Given the description of an element on the screen output the (x, y) to click on. 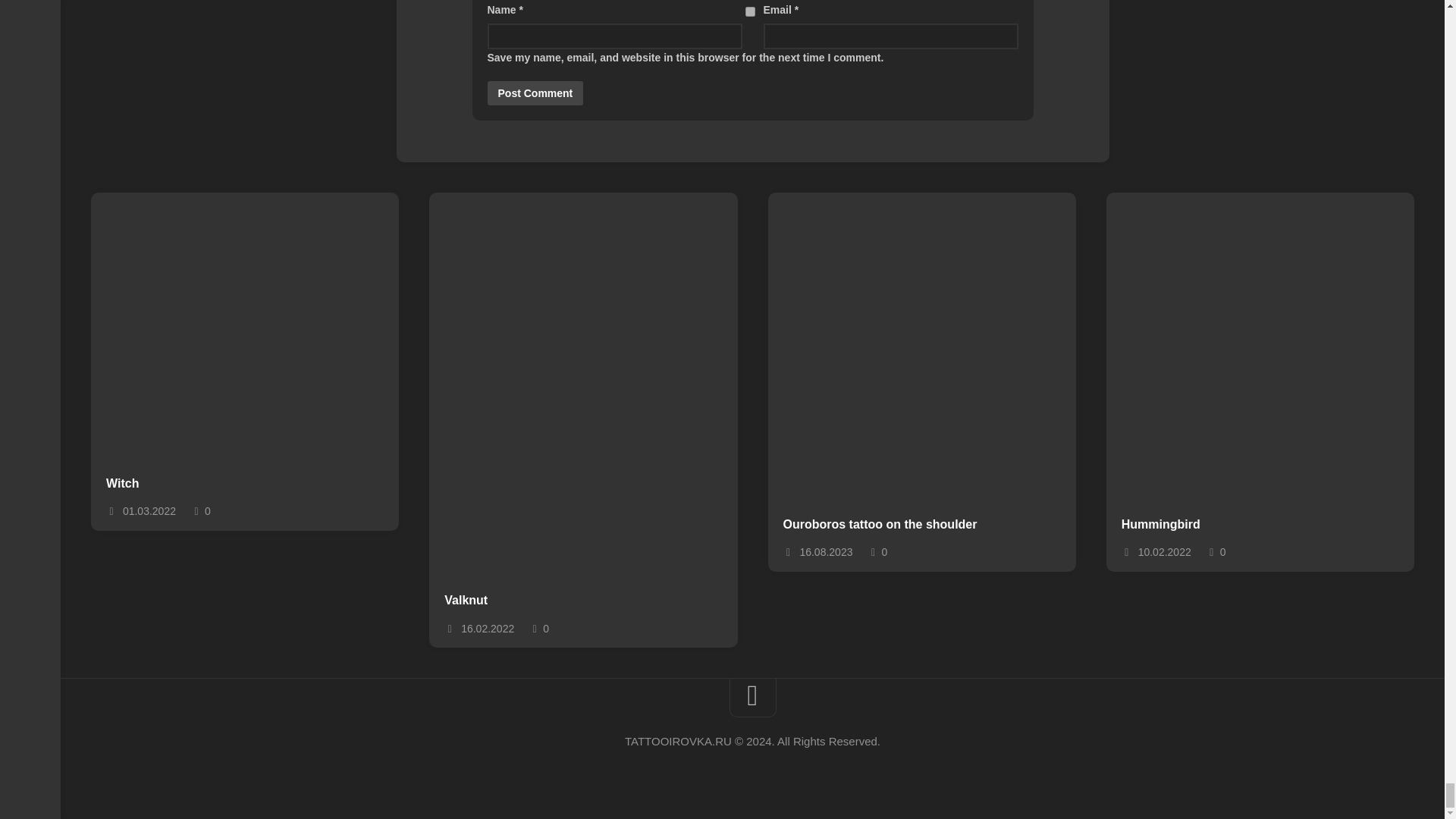
yes (749, 11)
Post Comment (534, 93)
